Given the description of an element on the screen output the (x, y) to click on. 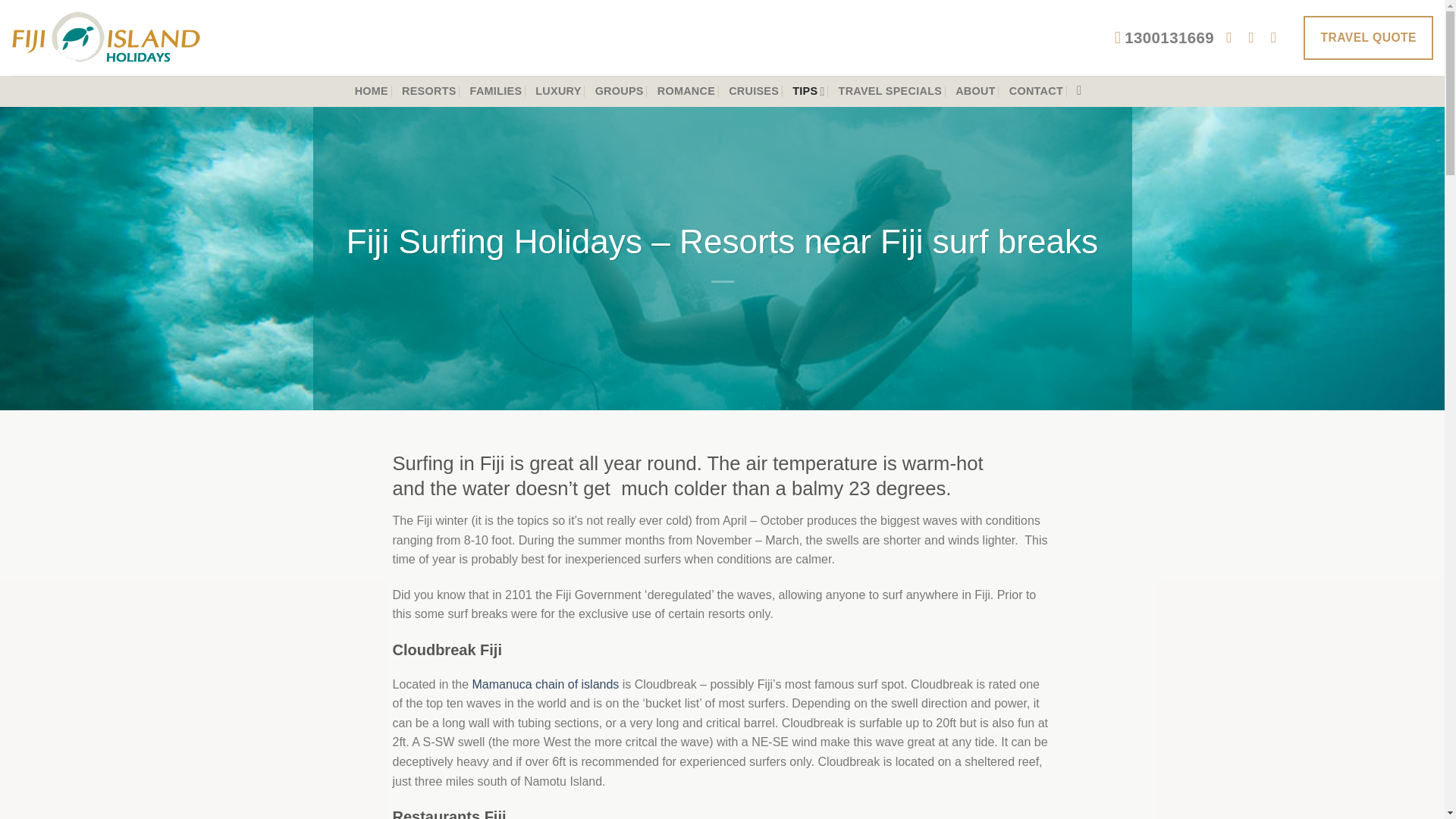
1300131669 (1164, 37)
ABOUT (975, 91)
Follow on Instagram (1256, 38)
FAMILIES (496, 91)
GROUPS (619, 91)
TRAVEL QUOTE (1367, 37)
CONTACT (1035, 91)
1300131669 (1164, 37)
ROMANCE (686, 91)
TIPS (808, 91)
